Given the description of an element on the screen output the (x, y) to click on. 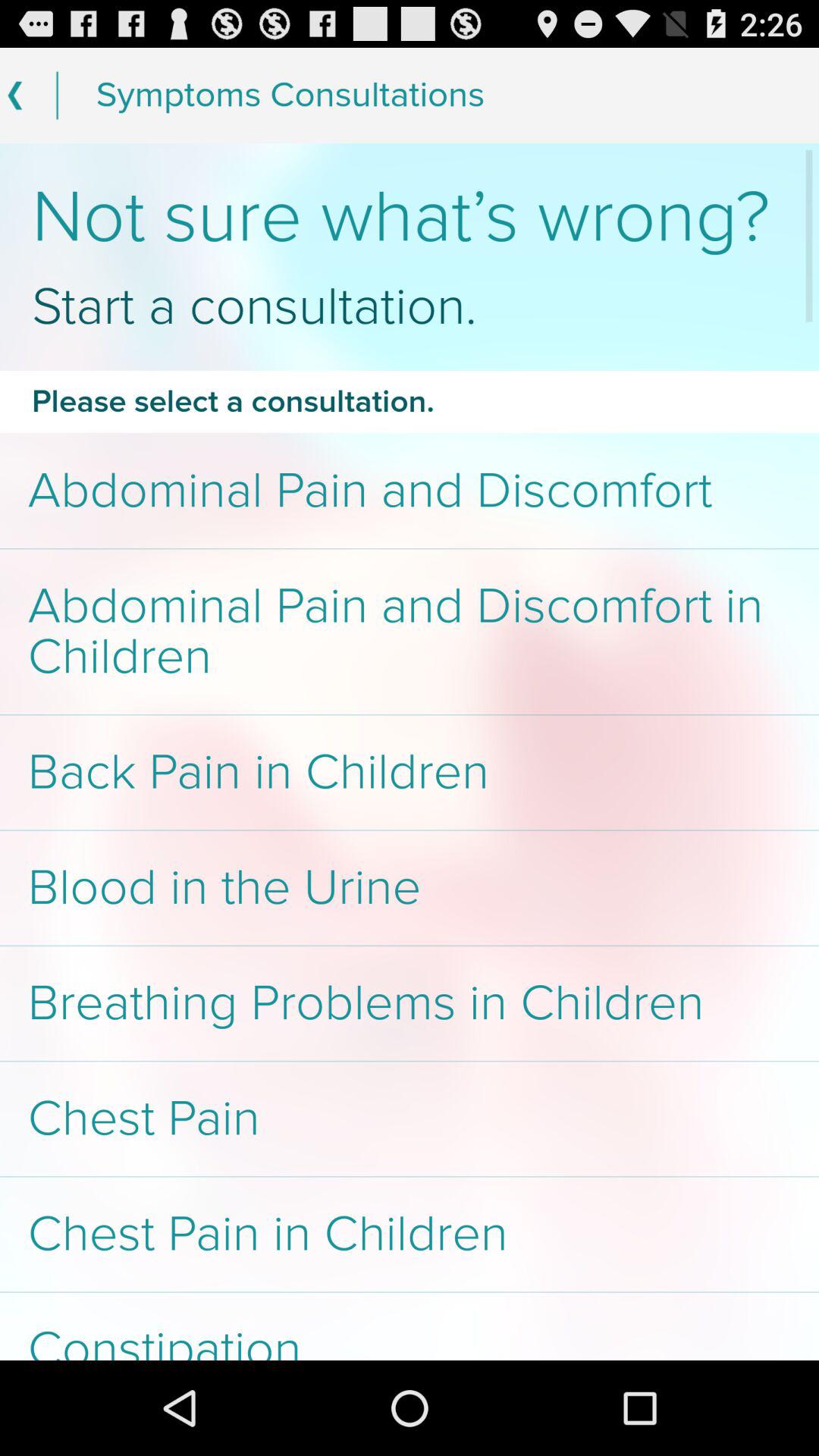
choose icon below the start a consultation. item (409, 401)
